Given the description of an element on the screen output the (x, y) to click on. 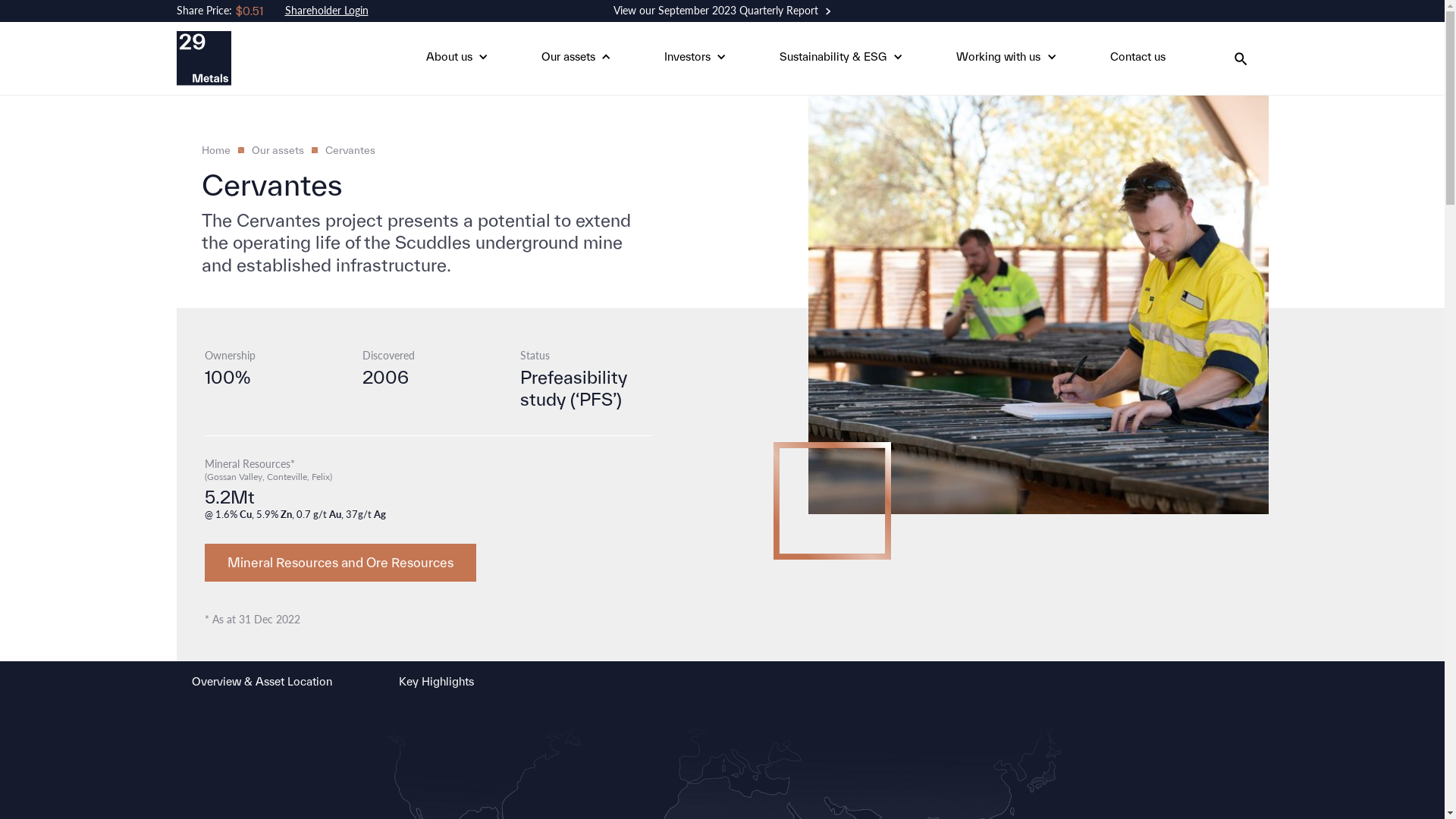
Overview & Asset Location Element type: text (260, 680)
Key Highlights Element type: text (436, 680)
About us Element type: text (449, 57)
View our September 2023 Quarterly Report Element type: text (721, 10)
Home Element type: text (215, 149)
Cervantes Element type: text (350, 149)
Shareholder Login Element type: text (326, 10)
Working with us Element type: text (998, 57)
Contact us Element type: text (1137, 57)
Sustainability & ESG Element type: text (833, 57)
Mineral Resources and Ore Resources Element type: text (340, 562)
Our assets Element type: text (277, 149)
Investors Element type: text (687, 57)
Our assets Element type: text (568, 57)
